Given the description of an element on the screen output the (x, y) to click on. 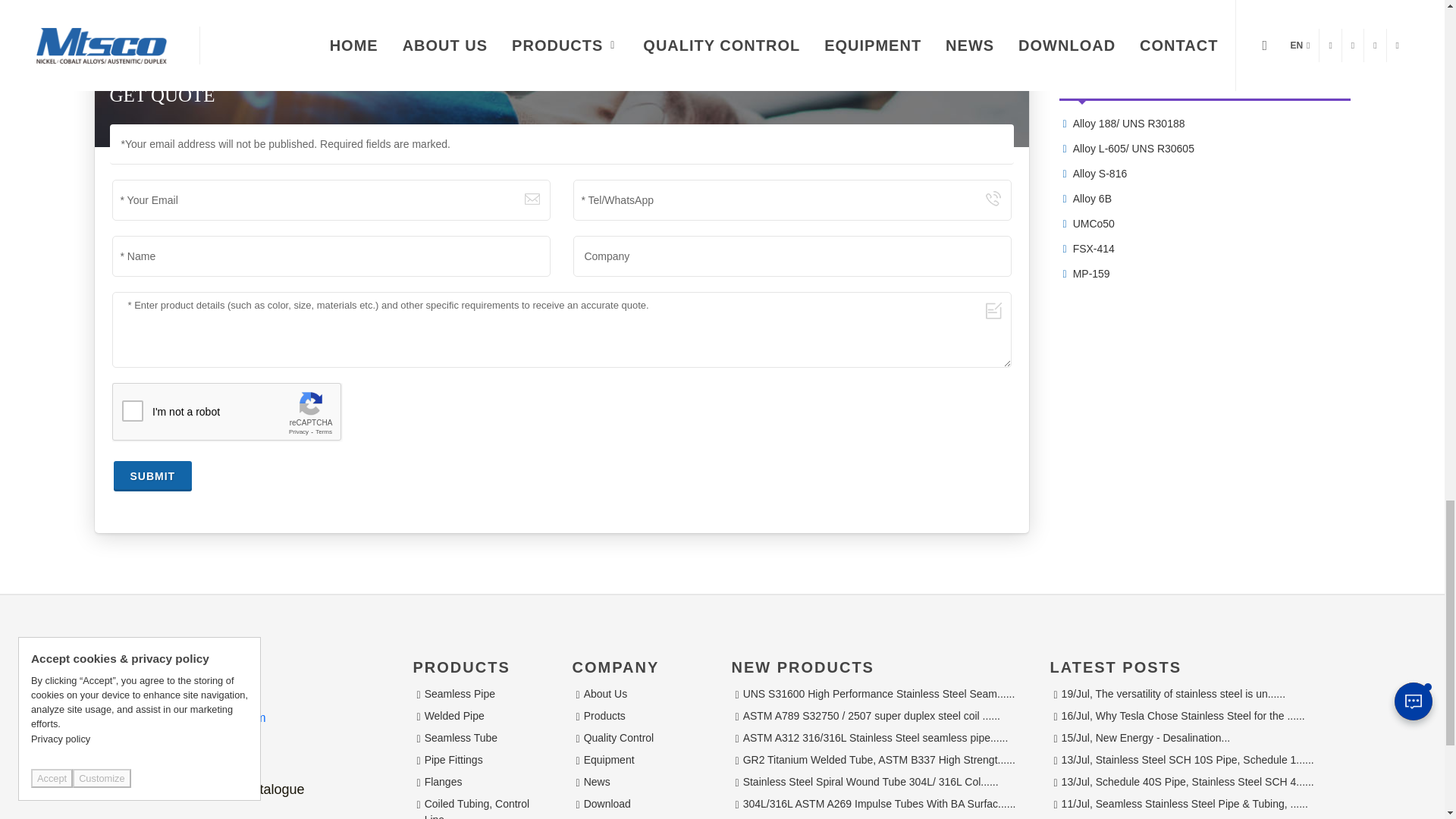
reCAPTCHA (227, 412)
GET QUOTE (646, 19)
SUBMIT (152, 476)
